Given the description of an element on the screen output the (x, y) to click on. 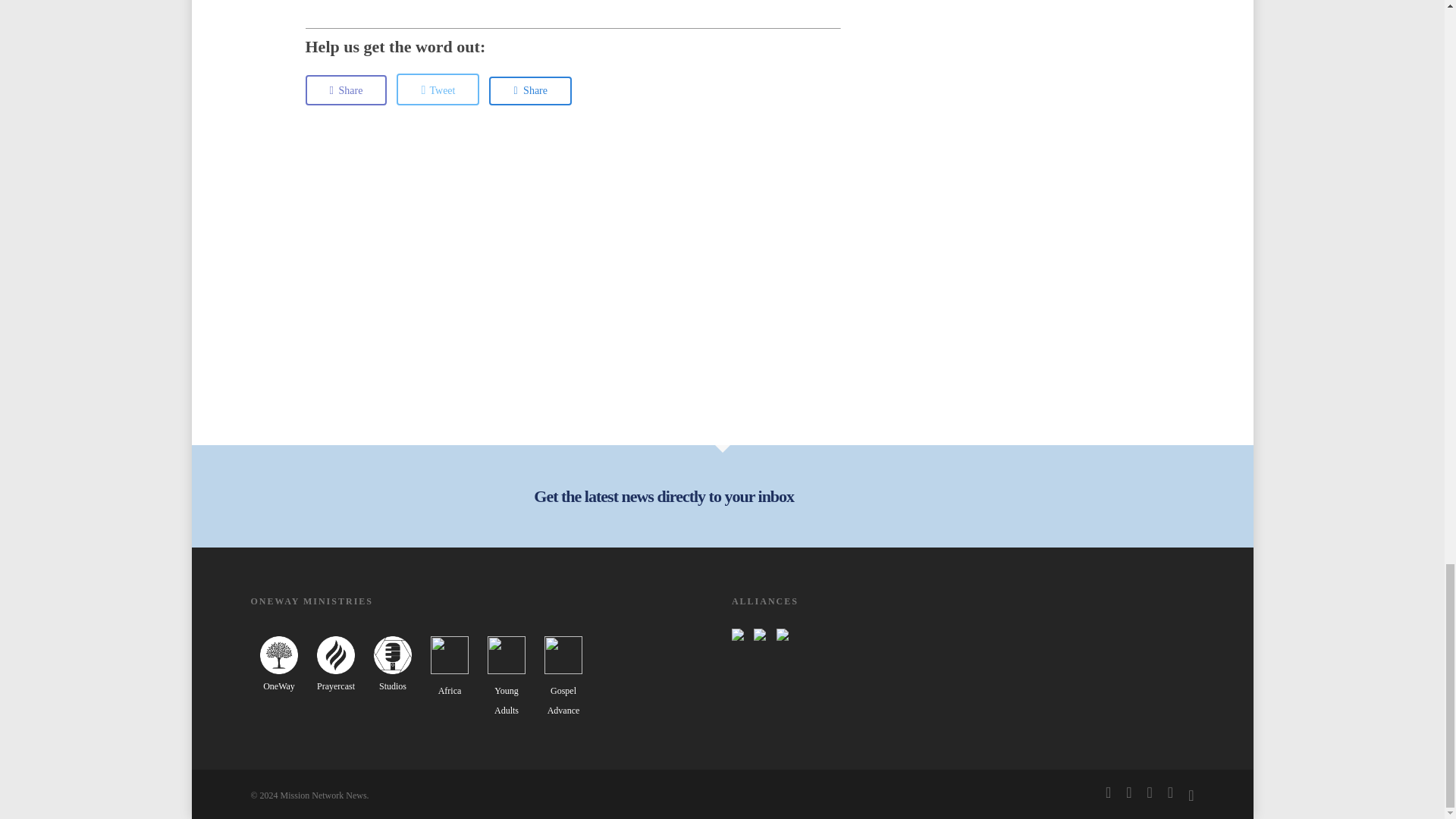
Share this (530, 90)
Share this (345, 90)
Tweet this (437, 89)
